Given the description of an element on the screen output the (x, y) to click on. 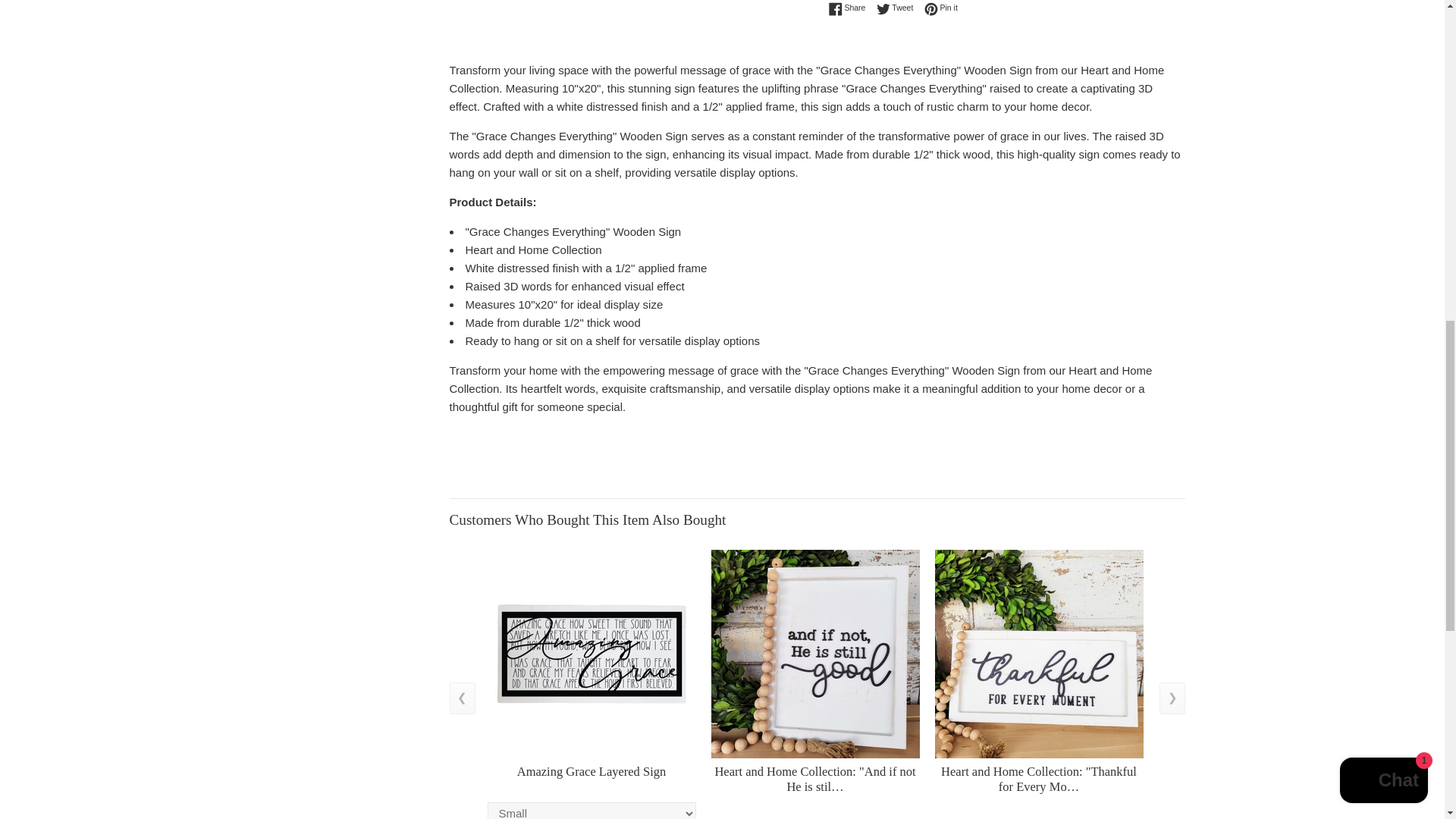
Tweet on Twitter (898, 8)
Pin on Pinterest (941, 8)
Share on Facebook (850, 8)
